Given the description of an element on the screen output the (x, y) to click on. 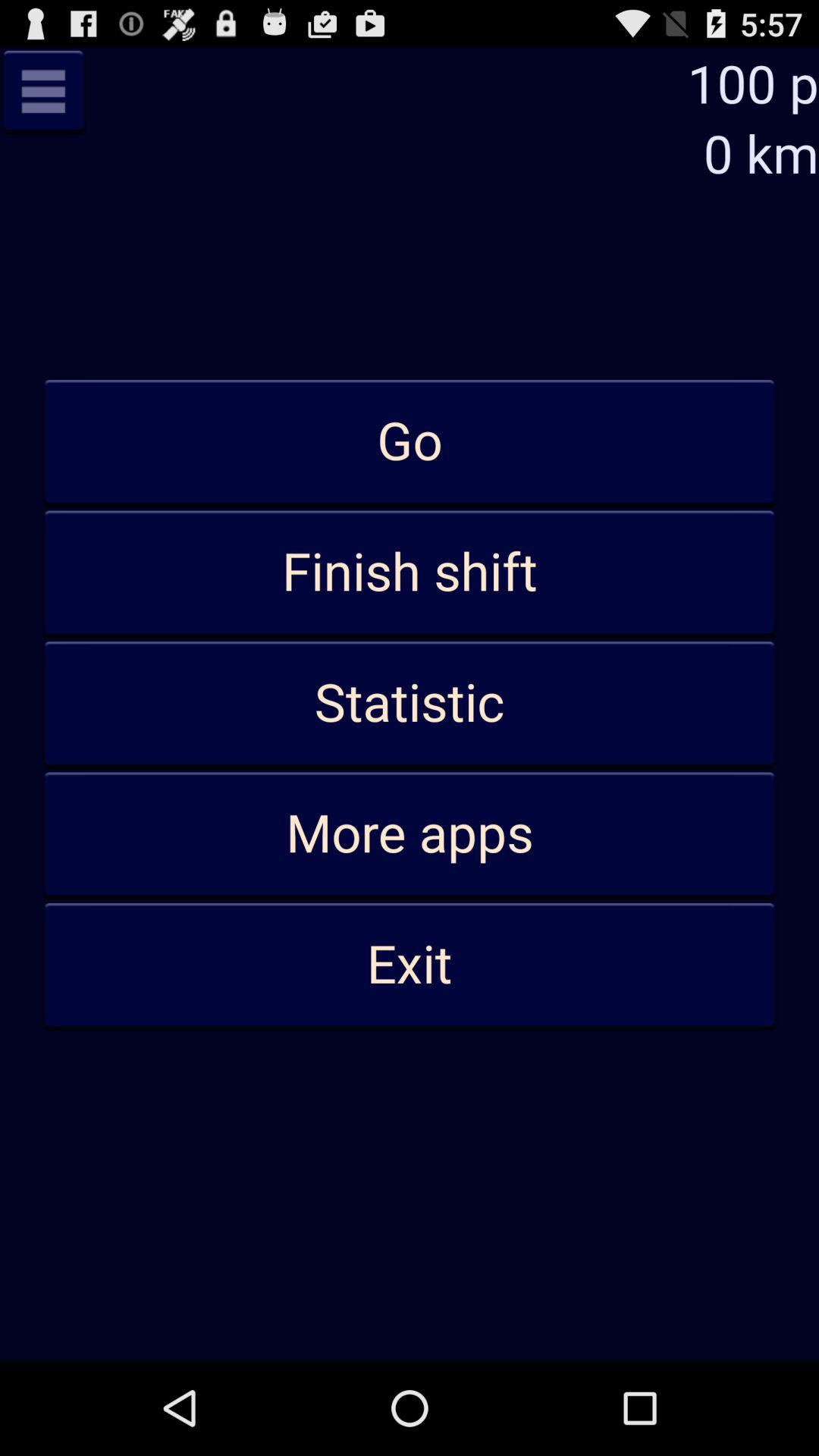
launch item below the 0 km (409, 442)
